Given the description of an element on the screen output the (x, y) to click on. 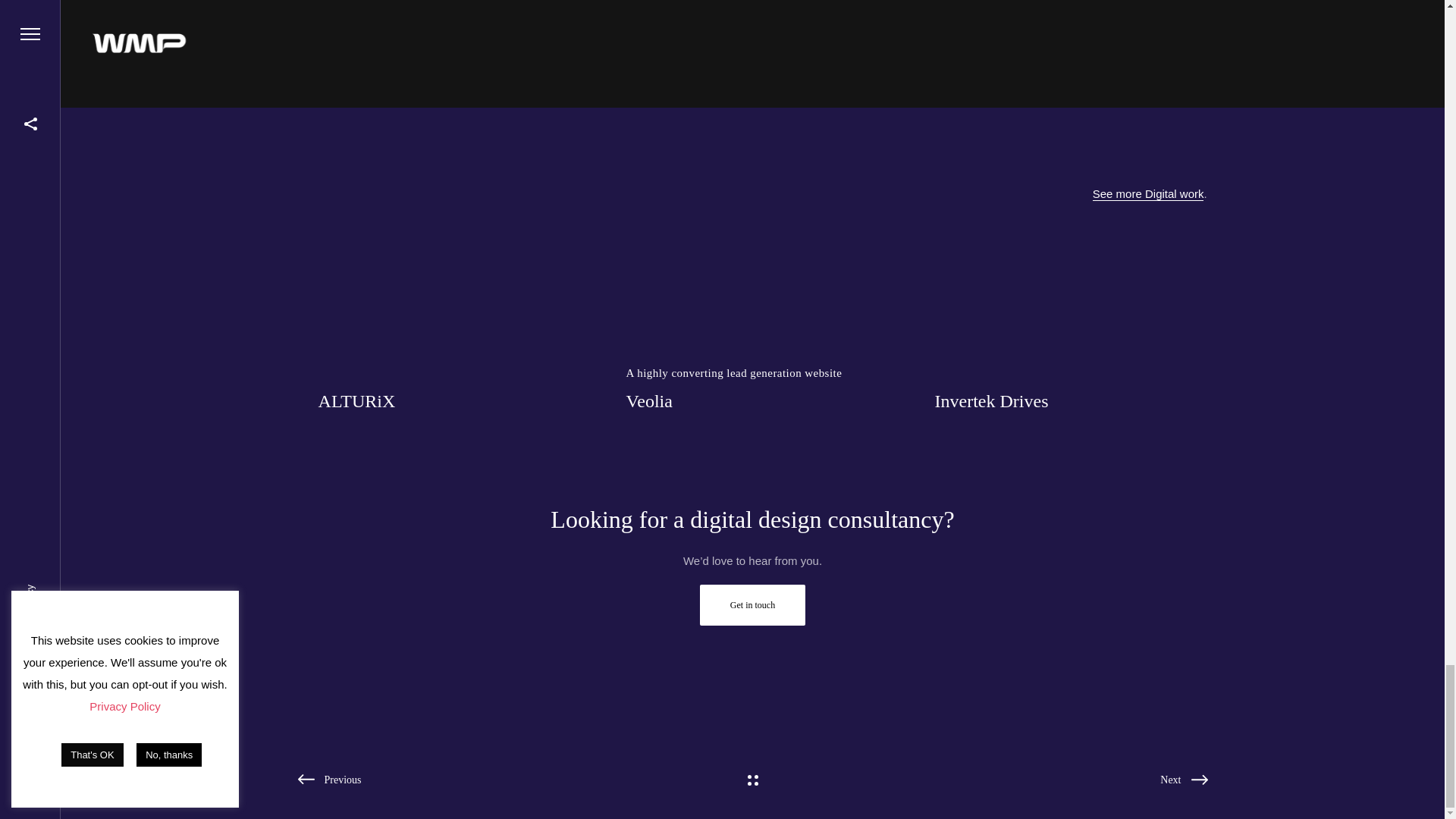
Invertek Drives (751, 331)
Get in touch (1061, 331)
Next (752, 604)
Previous (1183, 779)
ALTURiX (329, 779)
See more Digital work (444, 331)
